Given the description of an element on the screen output the (x, y) to click on. 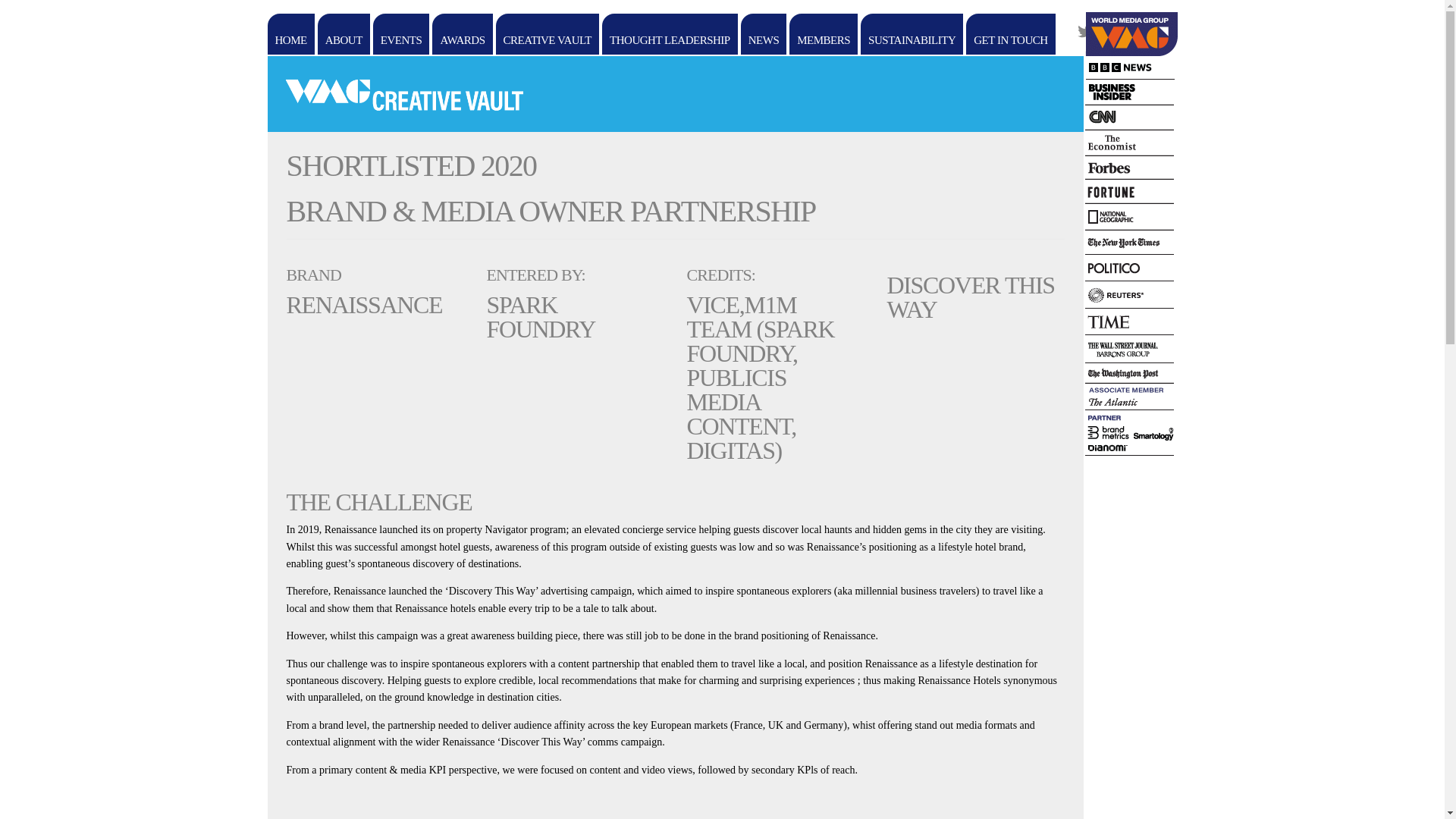
EVENTS (400, 33)
CREATIVE VAULT (547, 33)
MEMBERS (823, 33)
SUSTAINABILITY (911, 33)
ABOUT (343, 33)
NEWS (764, 33)
AWARDS (462, 33)
THOUGHT LEADERSHIP (670, 33)
HOME (290, 33)
